Given the description of an element on the screen output the (x, y) to click on. 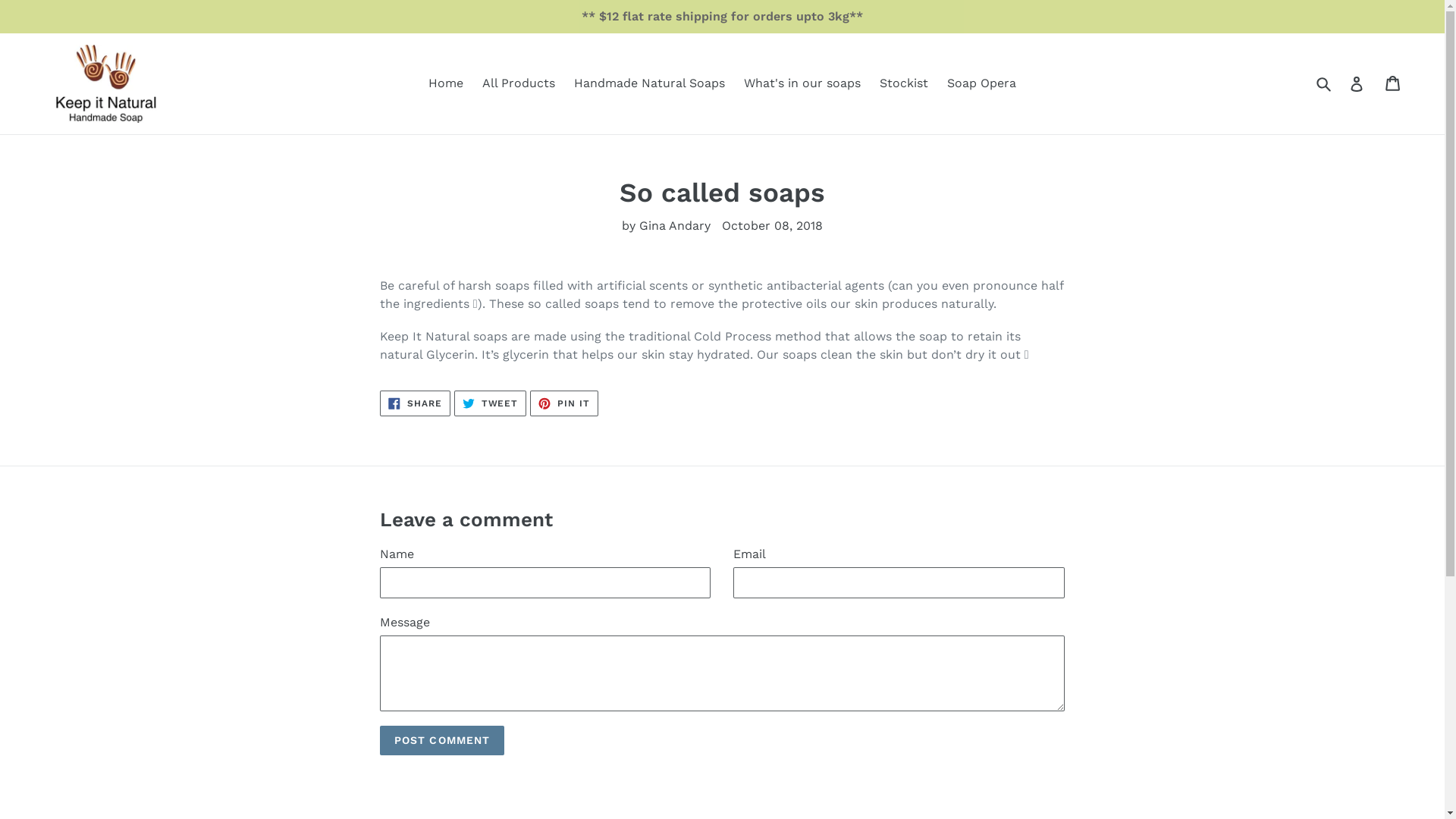
Handmade Natural Soaps Element type: text (649, 83)
Submit Element type: text (1324, 83)
Home Element type: text (445, 83)
SHARE
SHARE ON FACEBOOK Element type: text (414, 403)
Post comment Element type: text (441, 740)
What's in our soaps Element type: text (802, 83)
Cart Element type: text (1393, 83)
** $12 flat rate shipping for orders upto 3kg** Element type: text (722, 16)
Soap Opera Element type: text (981, 83)
Log in Element type: text (1356, 83)
TWEET
TWEET ON TWITTER Element type: text (490, 403)
All Products Element type: text (518, 83)
PIN IT
PIN ON PINTEREST Element type: text (564, 403)
Stockist Element type: text (903, 83)
